Given the description of an element on the screen output the (x, y) to click on. 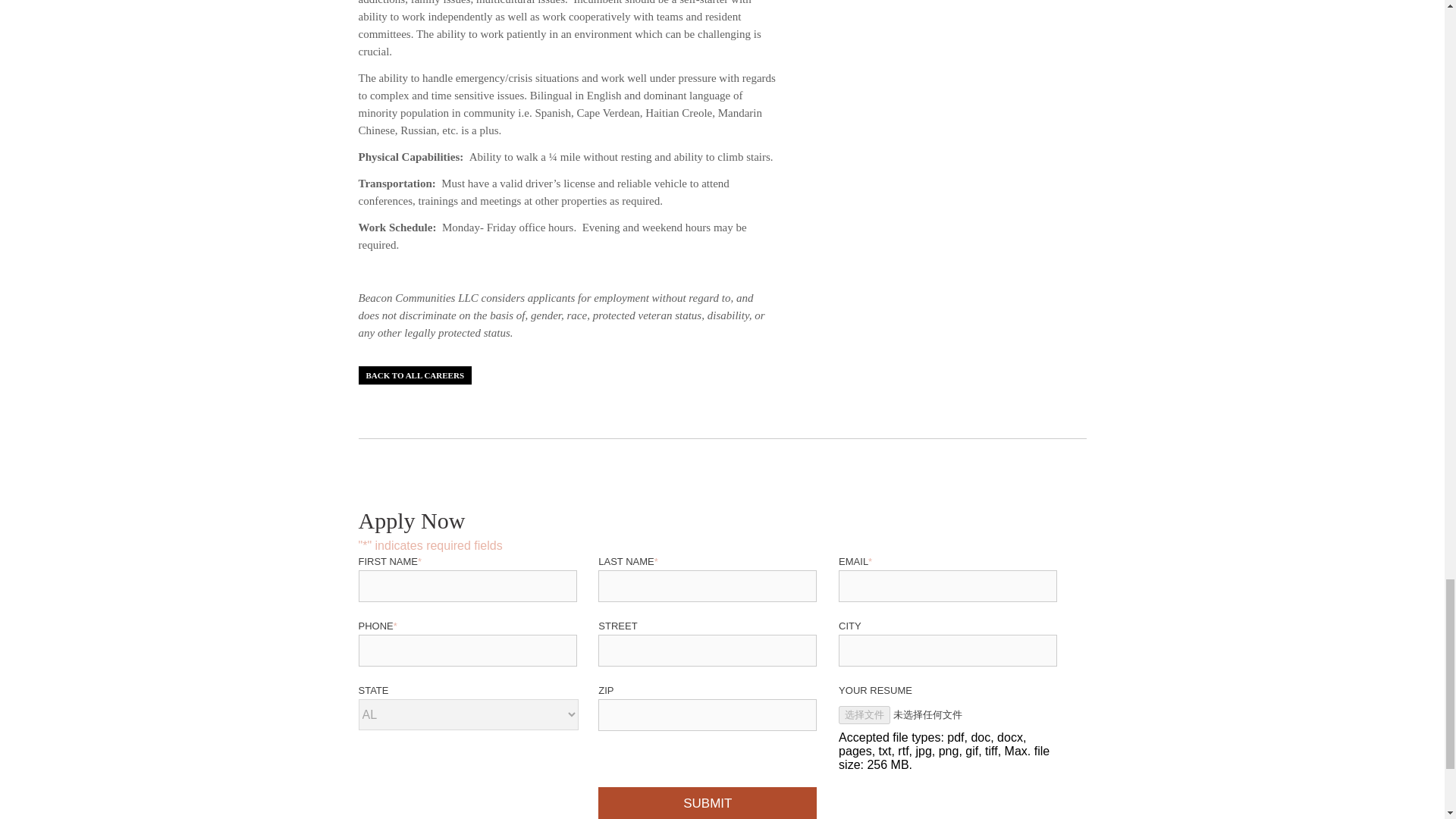
Submit (707, 803)
BACK TO ALL CAREERS (414, 375)
Submit (707, 803)
